Given the description of an element on the screen output the (x, y) to click on. 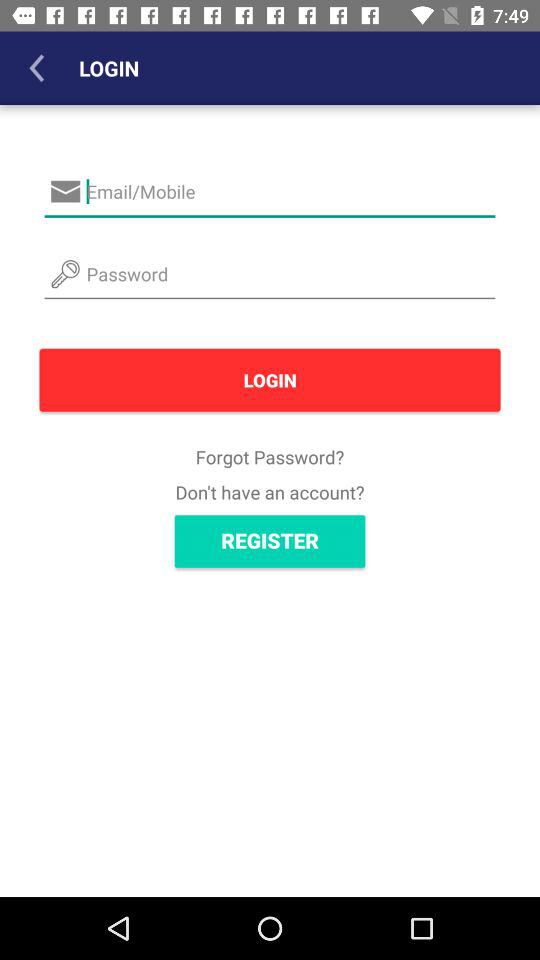
swipe until the register icon (269, 541)
